Given the description of an element on the screen output the (x, y) to click on. 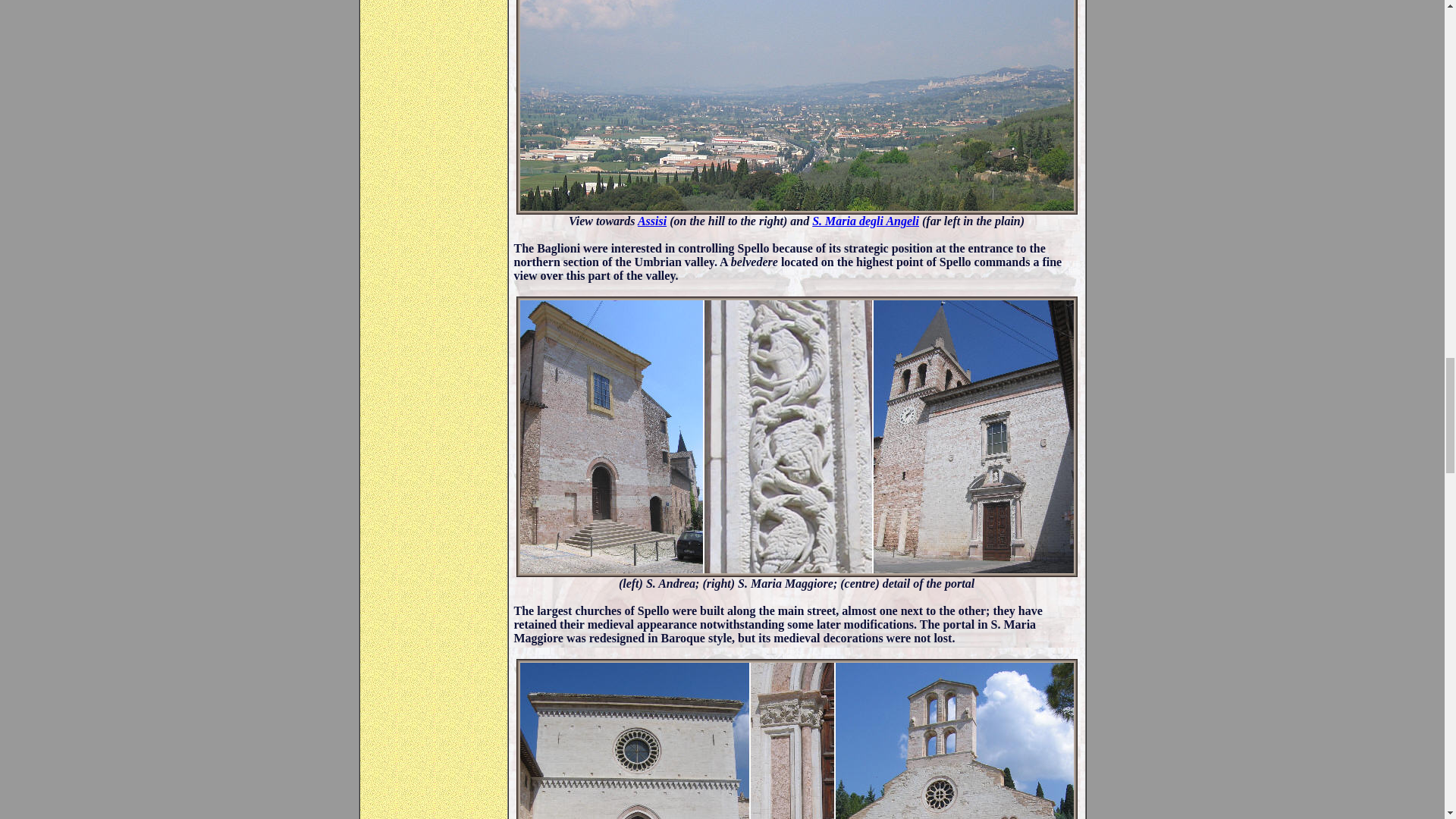
Assisi (651, 220)
S. Maria degli Angeli (865, 220)
